Given the description of an element on the screen output the (x, y) to click on. 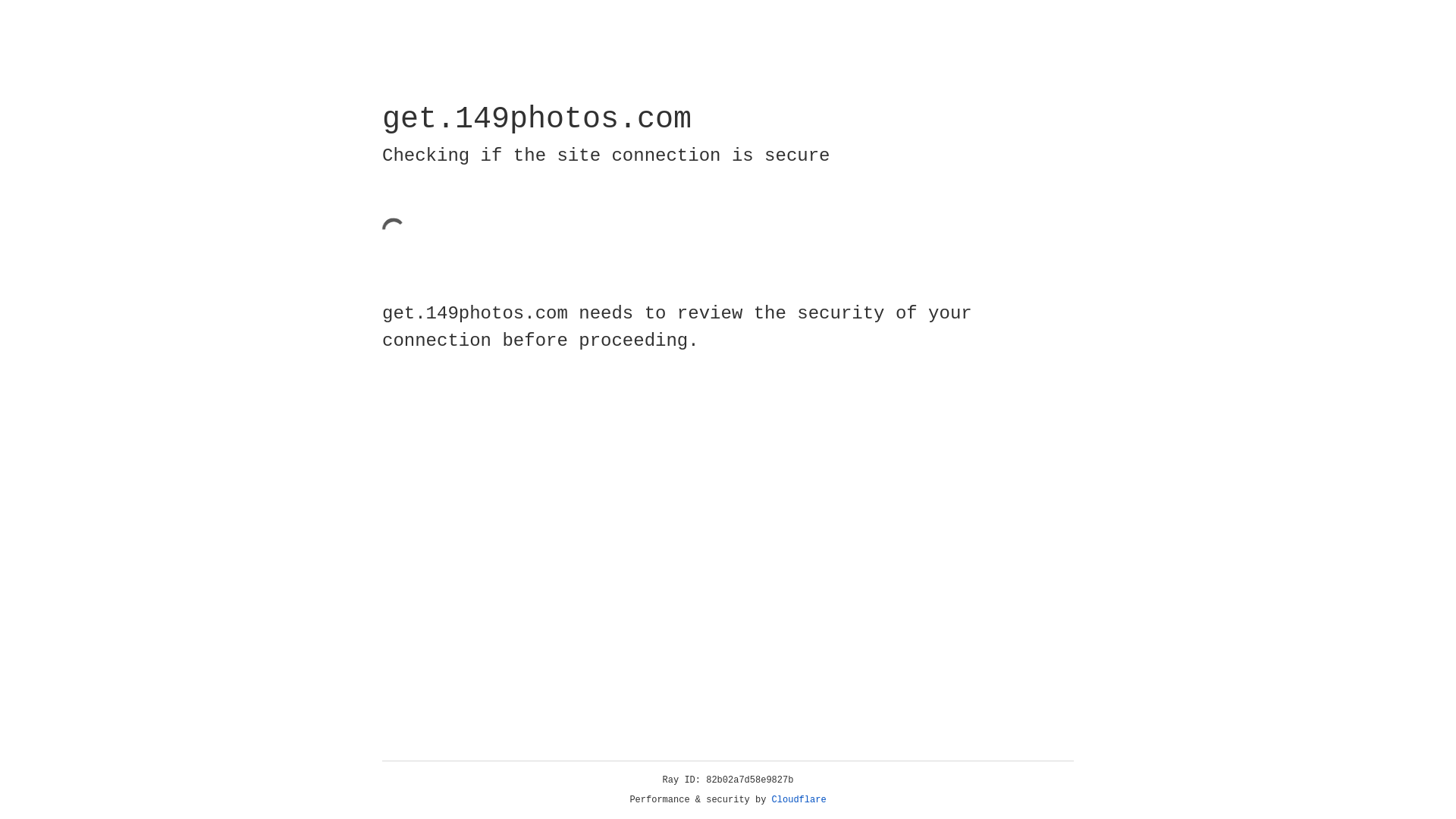
Cloudflare Element type: text (798, 799)
